Given the description of an element on the screen output the (x, y) to click on. 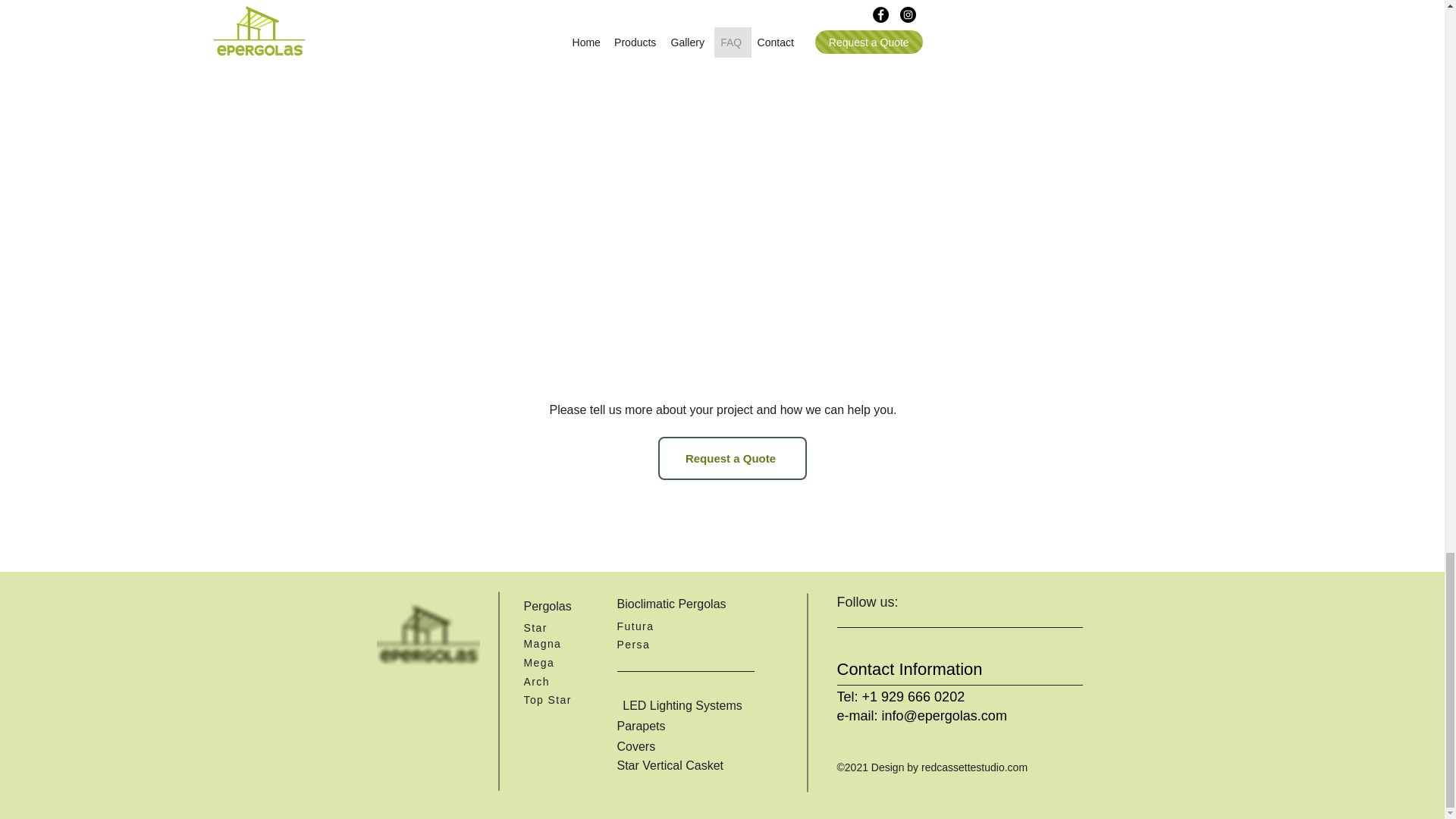
Futura (649, 625)
Covers (681, 746)
Pergolas (555, 605)
Top Star (555, 699)
Mega (555, 661)
Parapets (684, 725)
Star (555, 626)
Request a Quote (732, 457)
Arch (555, 681)
Bioclimatic Pergolas (694, 603)
